Given the description of an element on the screen output the (x, y) to click on. 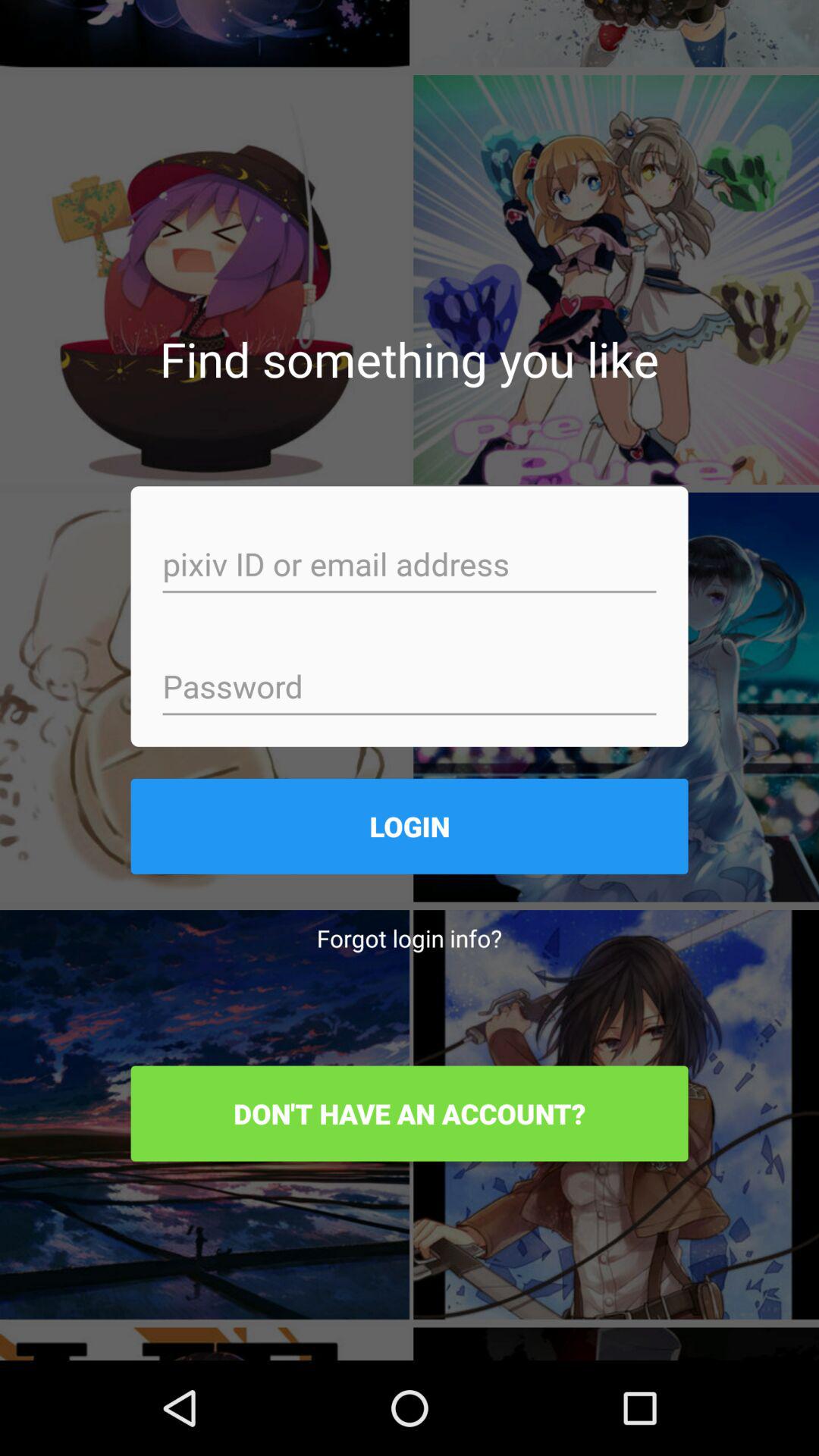
select don t have (409, 1113)
